Given the description of an element on the screen output the (x, y) to click on. 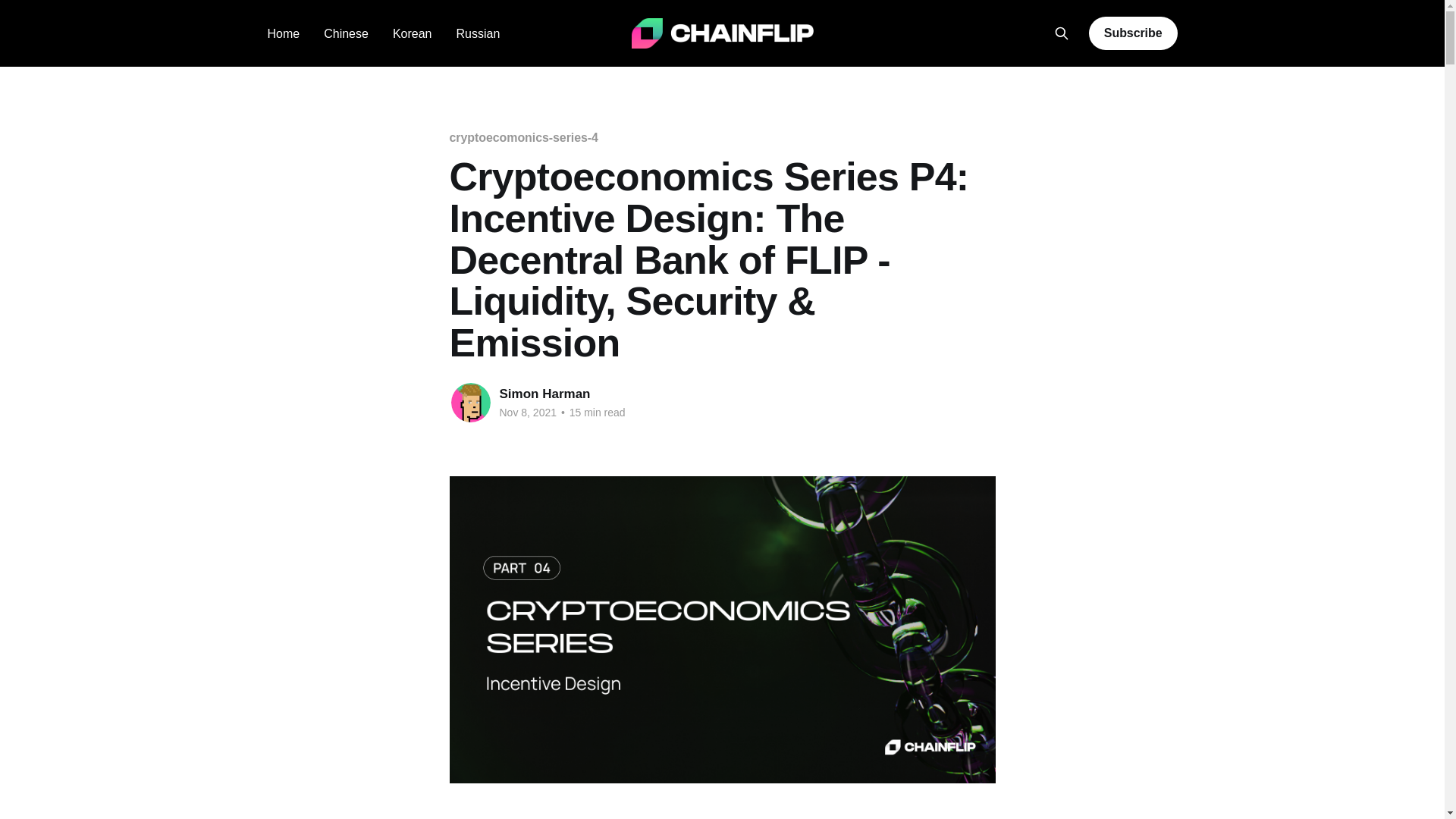
Subscribe (1133, 32)
Russian (477, 33)
Home (282, 33)
cryptoecomonics-series-4 (522, 137)
Korean (412, 33)
Chinese (345, 33)
Simon Harman (544, 393)
